Given the description of an element on the screen output the (x, y) to click on. 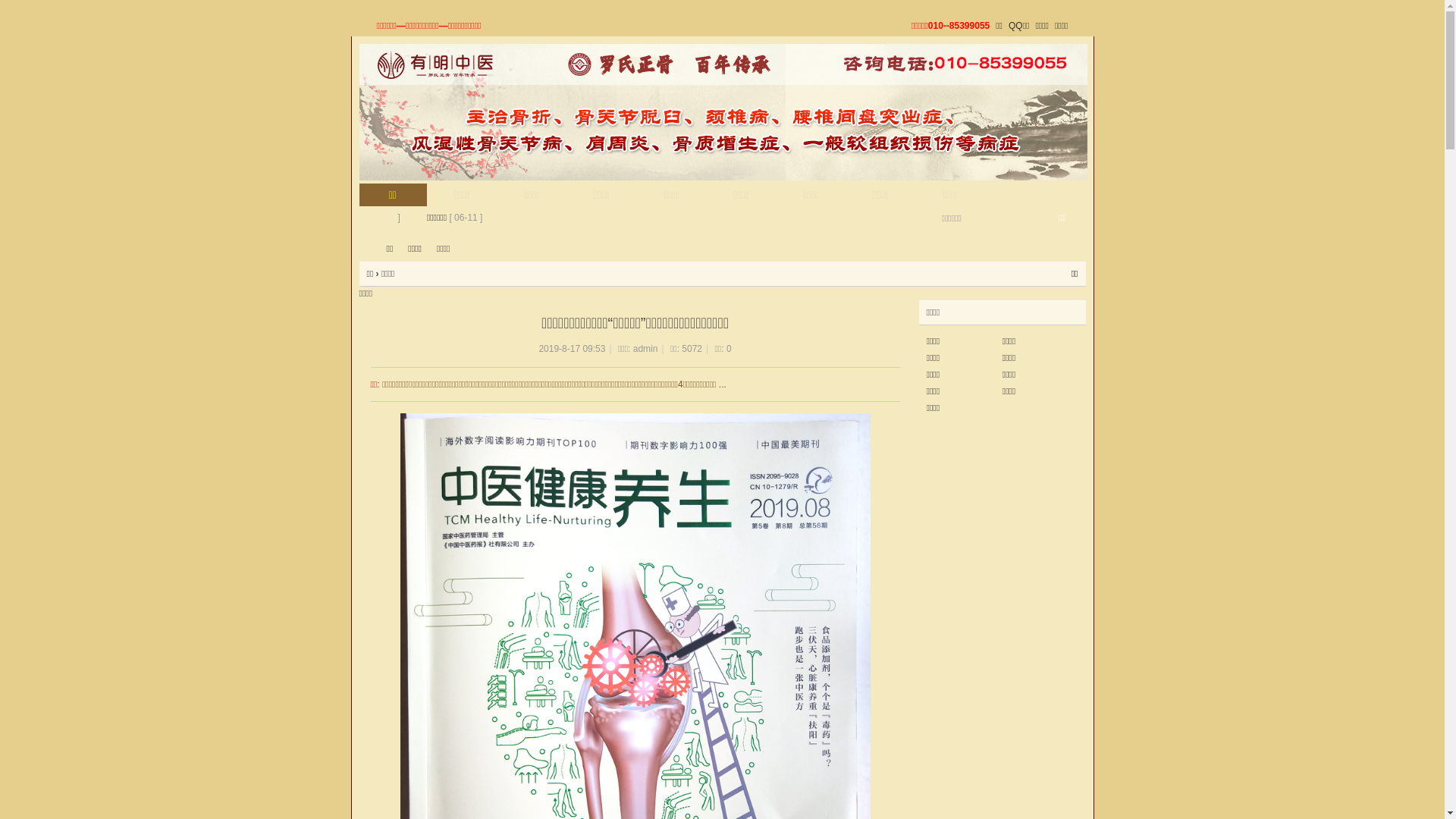
admin Element type: text (645, 348)
